Given the description of an element on the screen output the (x, y) to click on. 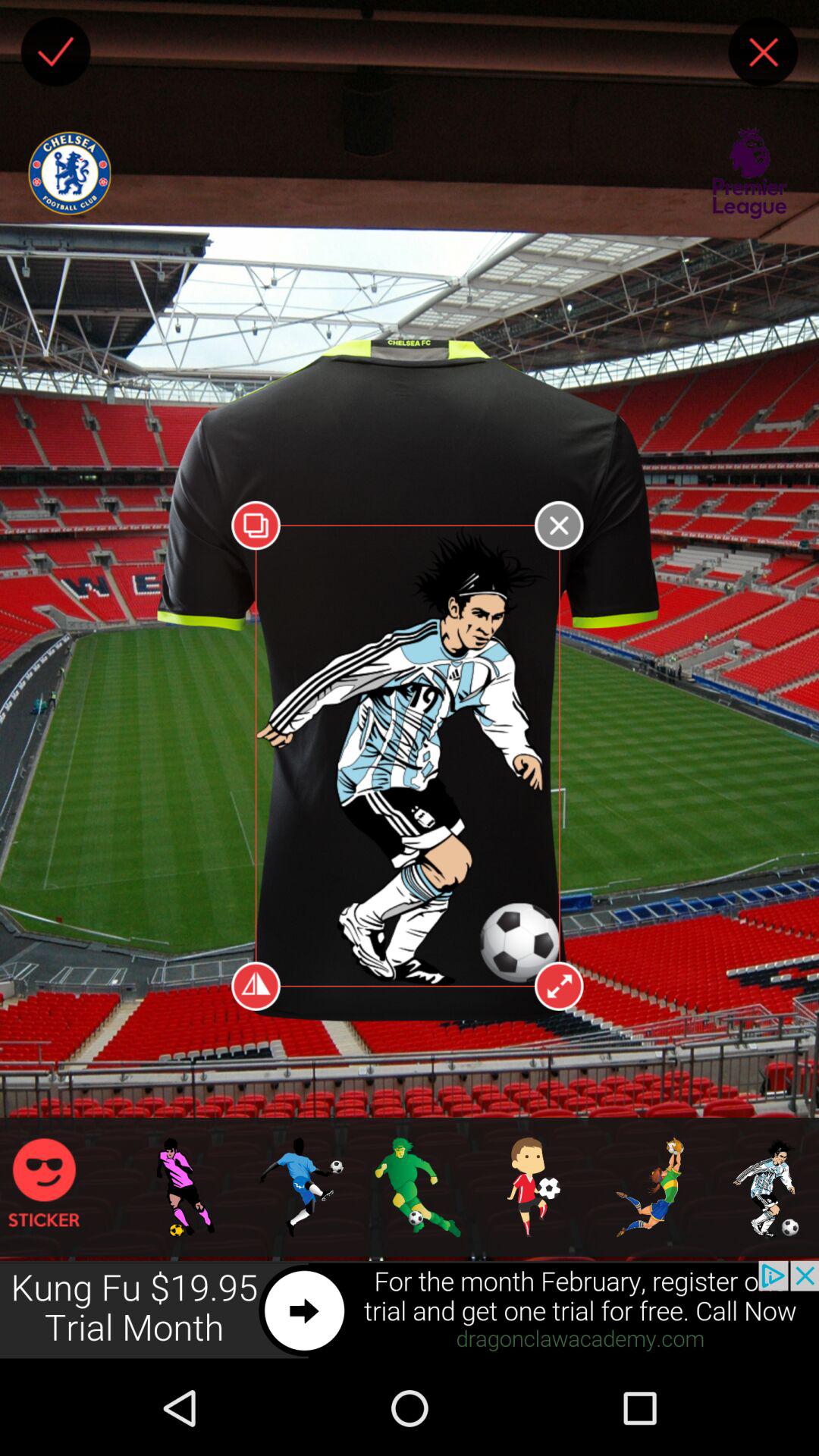
preview advertisement (409, 1310)
